Given the description of an element on the screen output the (x, y) to click on. 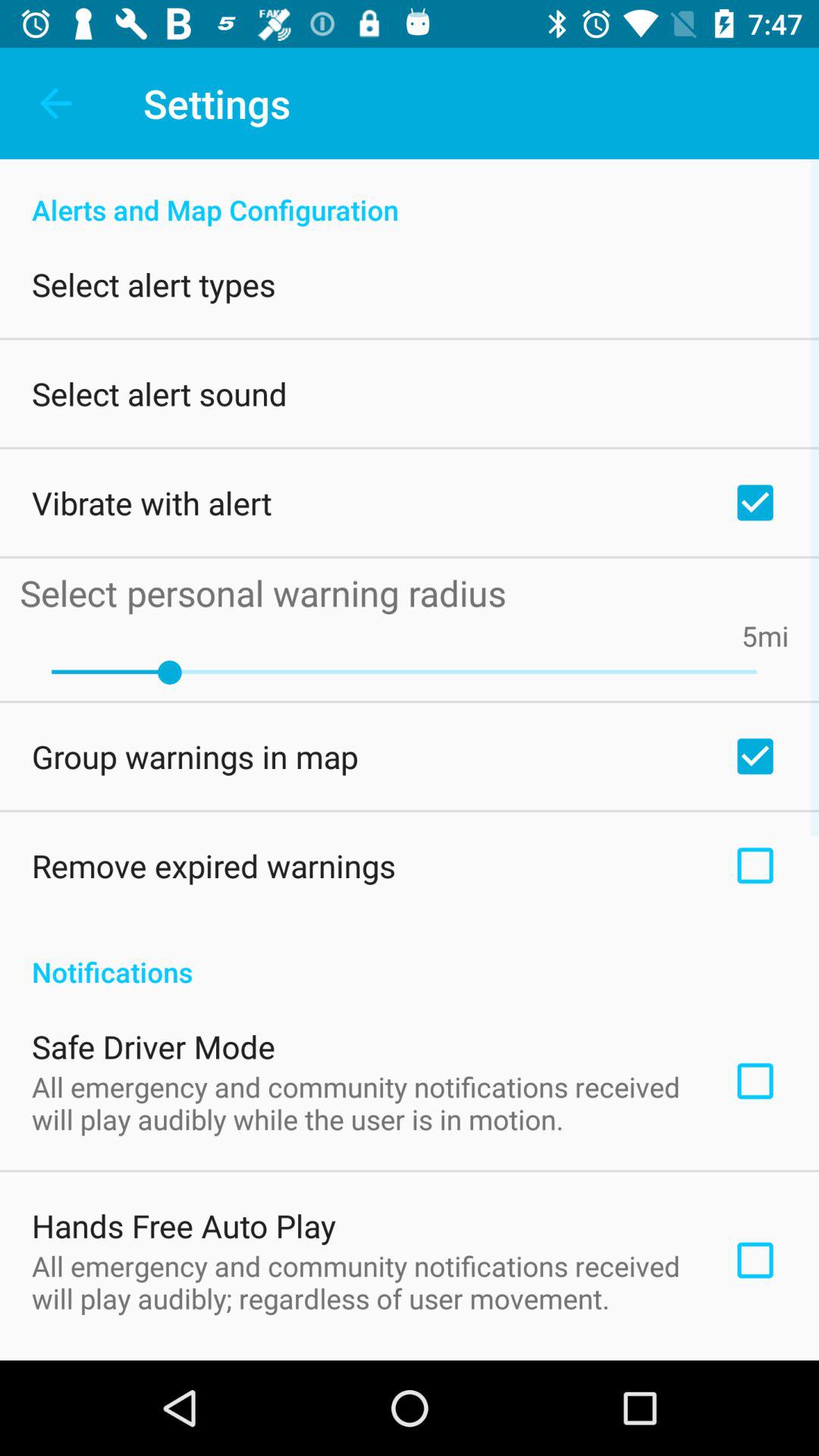
press hands free auto item (183, 1225)
